Given the description of an element on the screen output the (x, y) to click on. 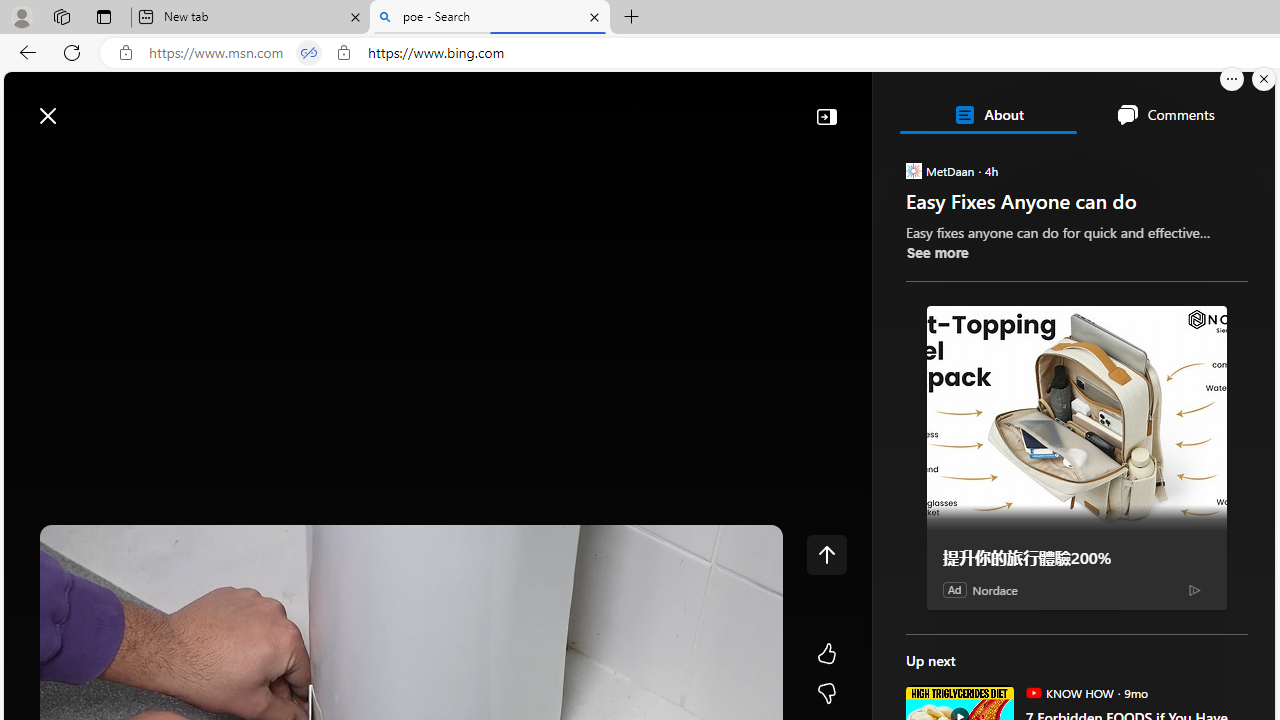
Like (826, 653)
Close split screen. (1264, 79)
More options. (1232, 79)
Class: control icon-only (826, 554)
